Given the description of an element on the screen output the (x, y) to click on. 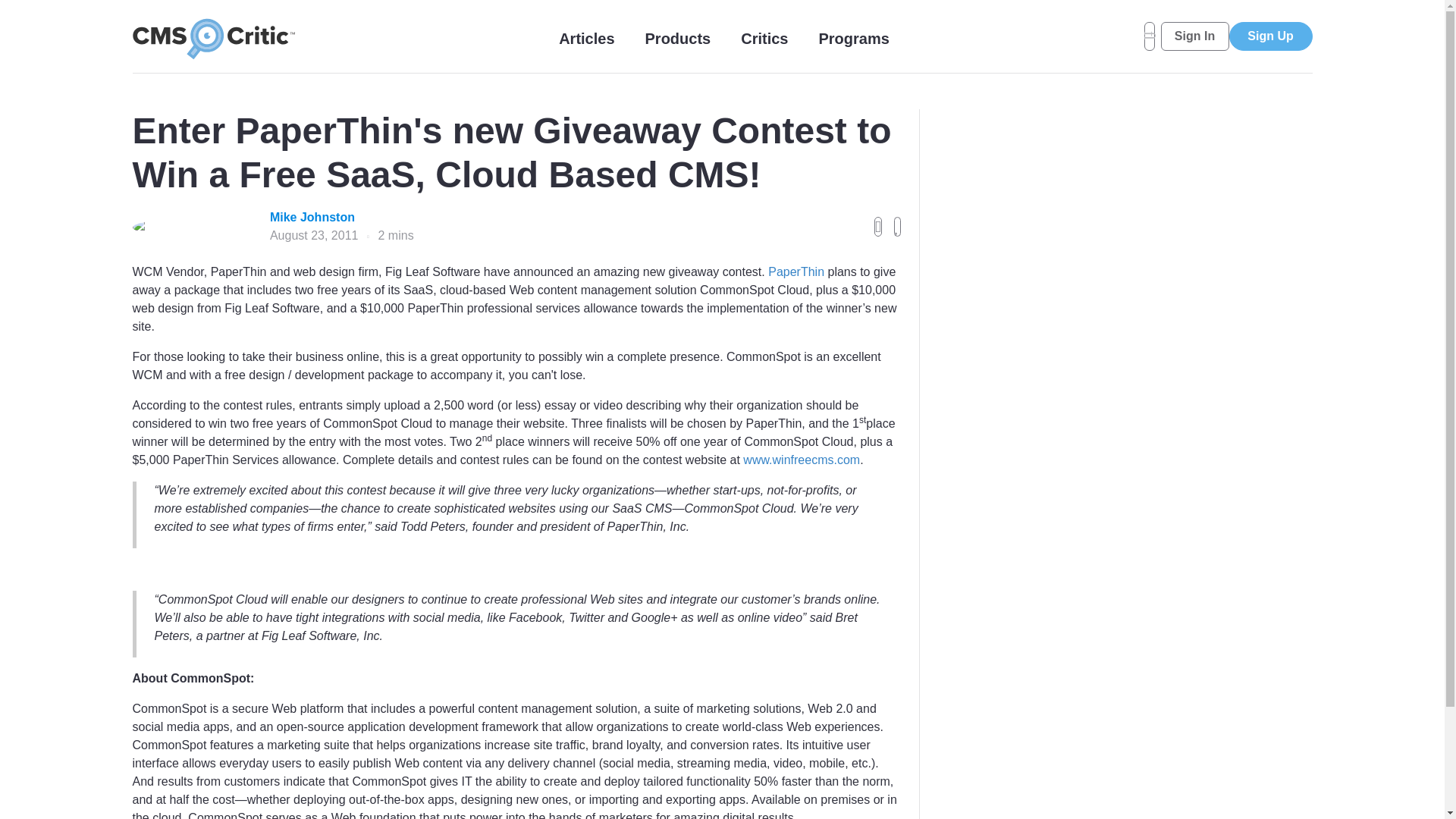
PaperThin (796, 271)
Critics (764, 38)
Sign Up (1269, 36)
Products (678, 38)
Mike Johnston (341, 217)
www.winfreecms.com (801, 459)
Articles (586, 38)
Programs (853, 38)
Sign In (1194, 36)
